Given the description of an element on the screen output the (x, y) to click on. 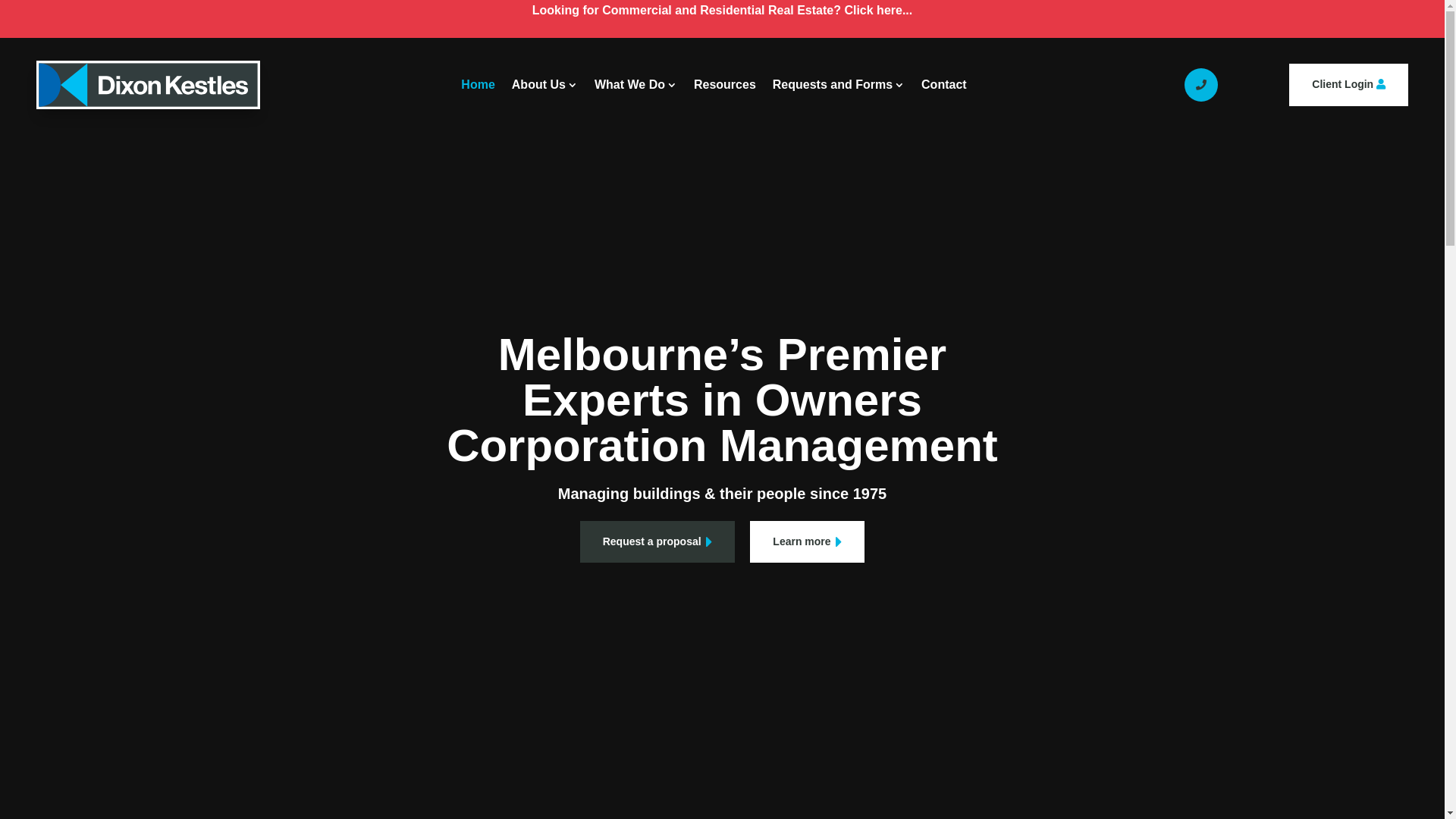
Requests and Forms Element type: text (838, 84)
Client Login Element type: text (1348, 84)
About Us Element type: text (544, 84)
Contact Element type: text (943, 84)
What We Do Element type: text (635, 84)
Request a proposal Element type: text (657, 541)
Resources Element type: text (724, 84)
Home Element type: text (477, 84)
Learn more Element type: text (806, 541)
